Given the description of an element on the screen output the (x, y) to click on. 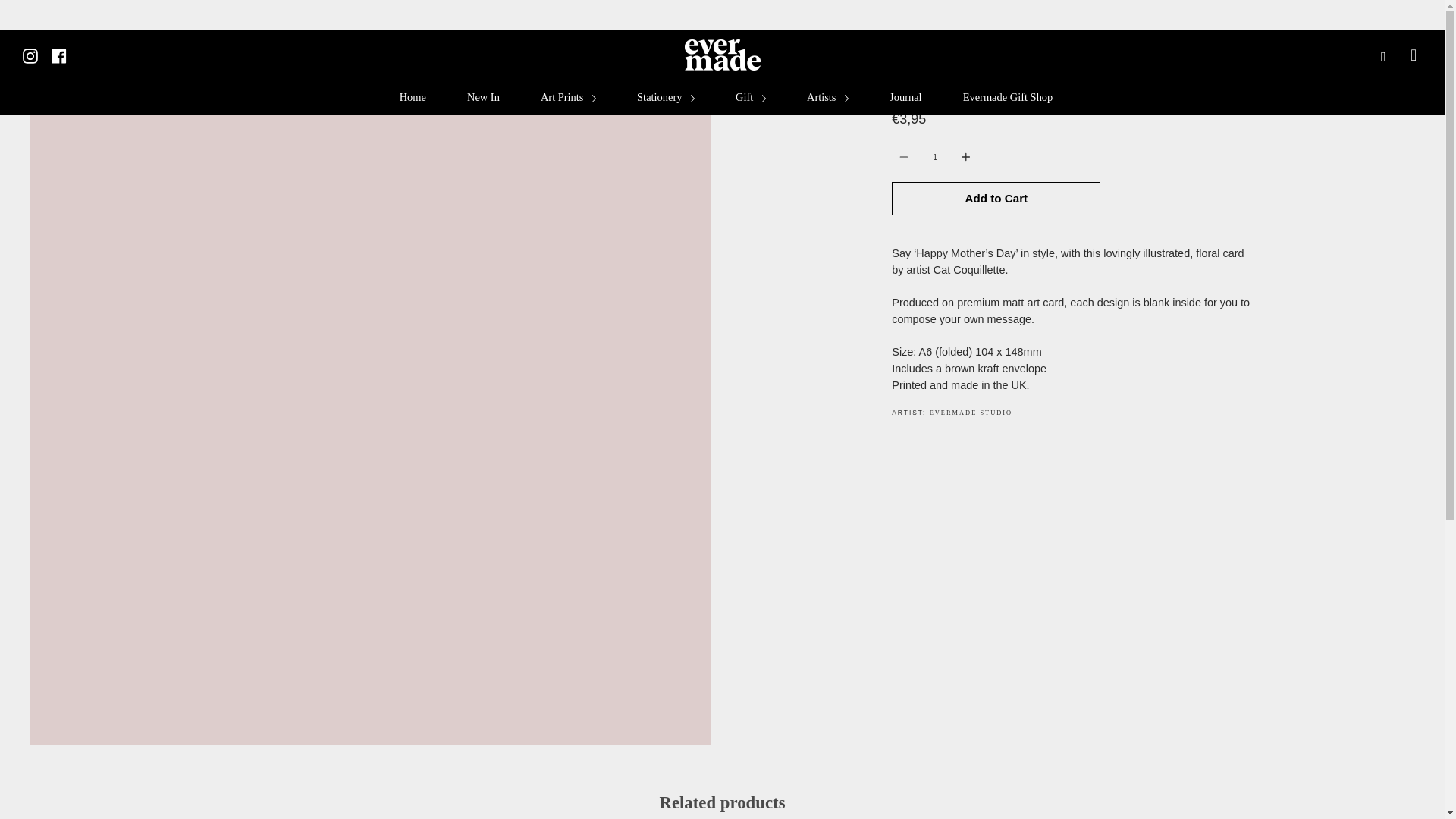
Evermade on Instagram (30, 53)
Home (412, 96)
Art Prints (568, 96)
1 (934, 156)
Instagram (30, 53)
Stationery (665, 96)
Facebook (58, 53)
Evermade on Facebook (58, 53)
New In (483, 96)
